Given the description of an element on the screen output the (x, y) to click on. 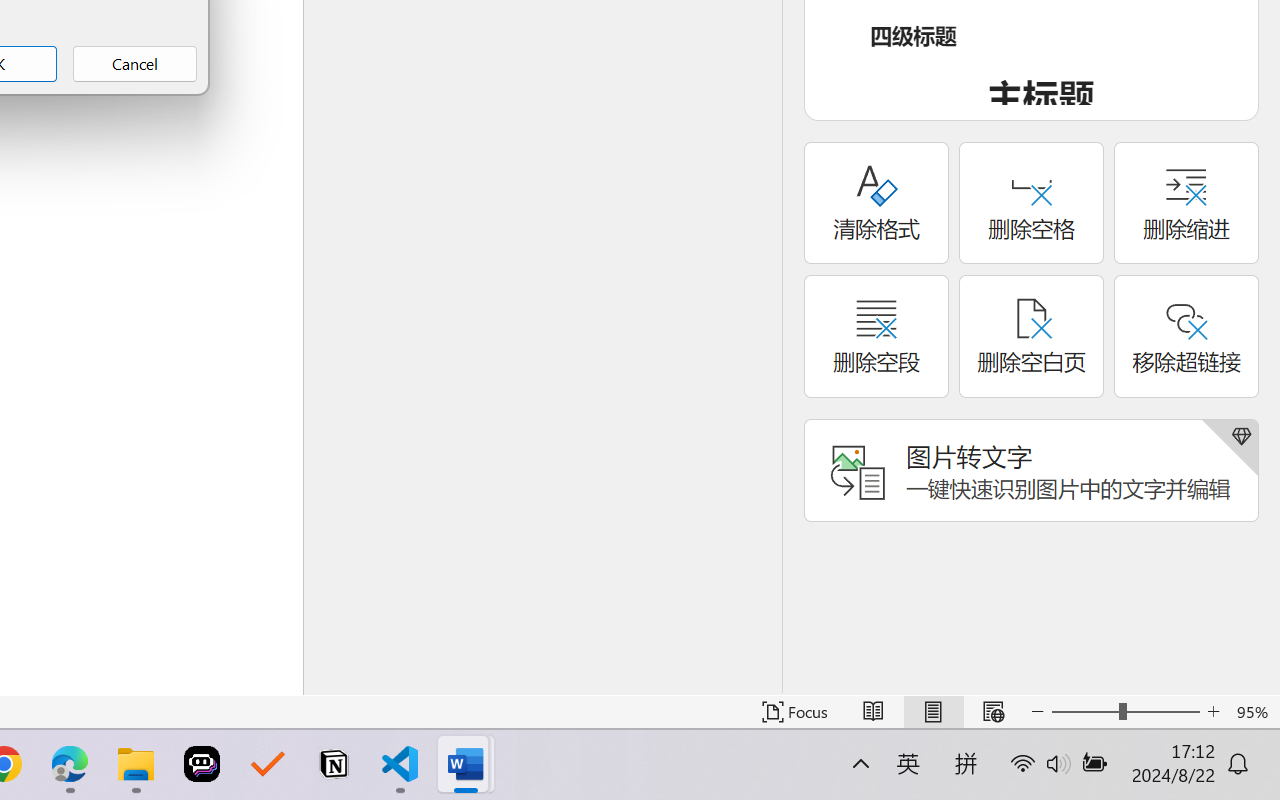
Cancel (134, 63)
Zoom 95% (1253, 712)
